Given the description of an element on the screen output the (x, y) to click on. 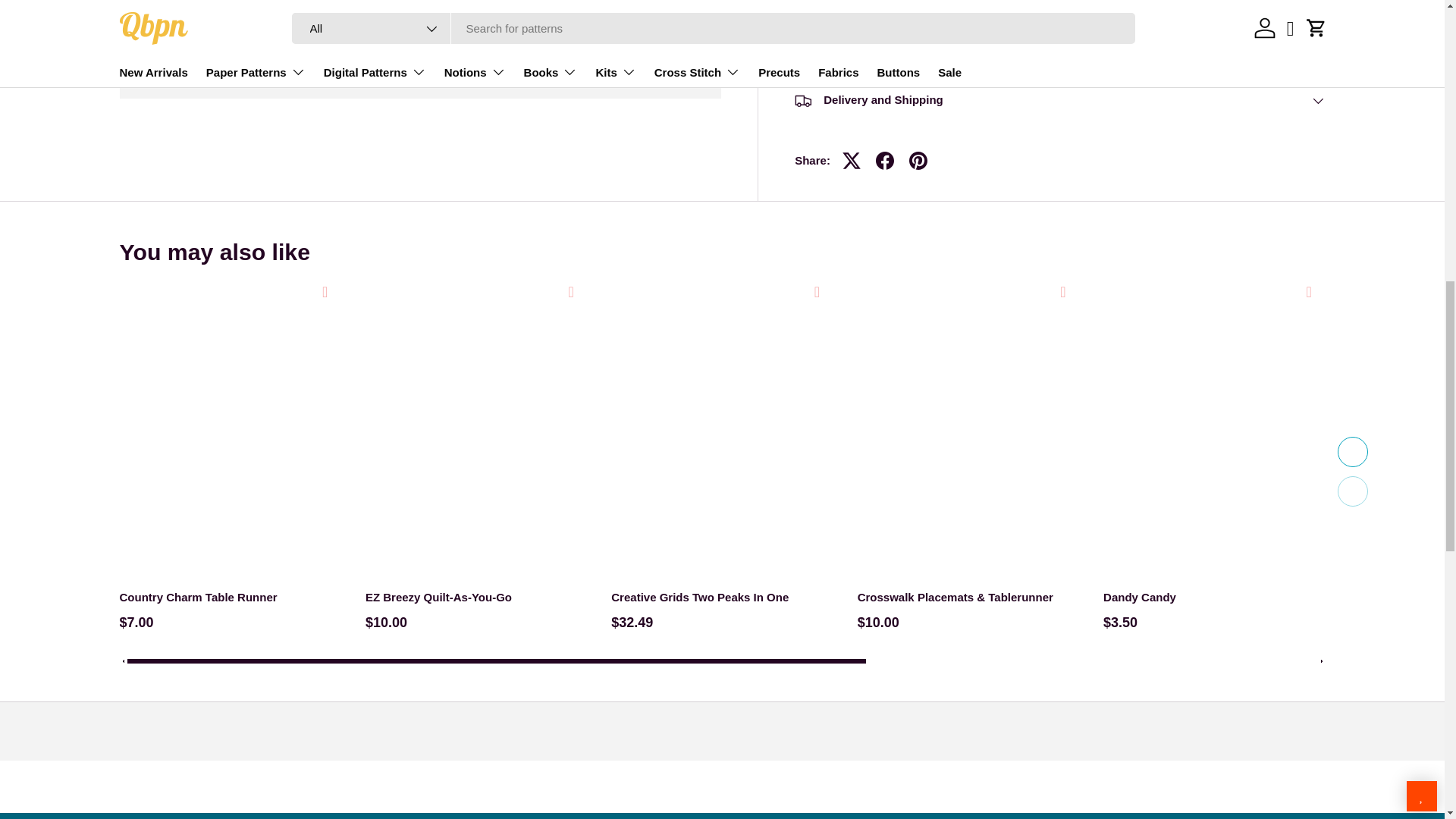
Share on Facebook (884, 136)
Tweet on X (850, 136)
Pin on Pinterest (917, 136)
